Given the description of an element on the screen output the (x, y) to click on. 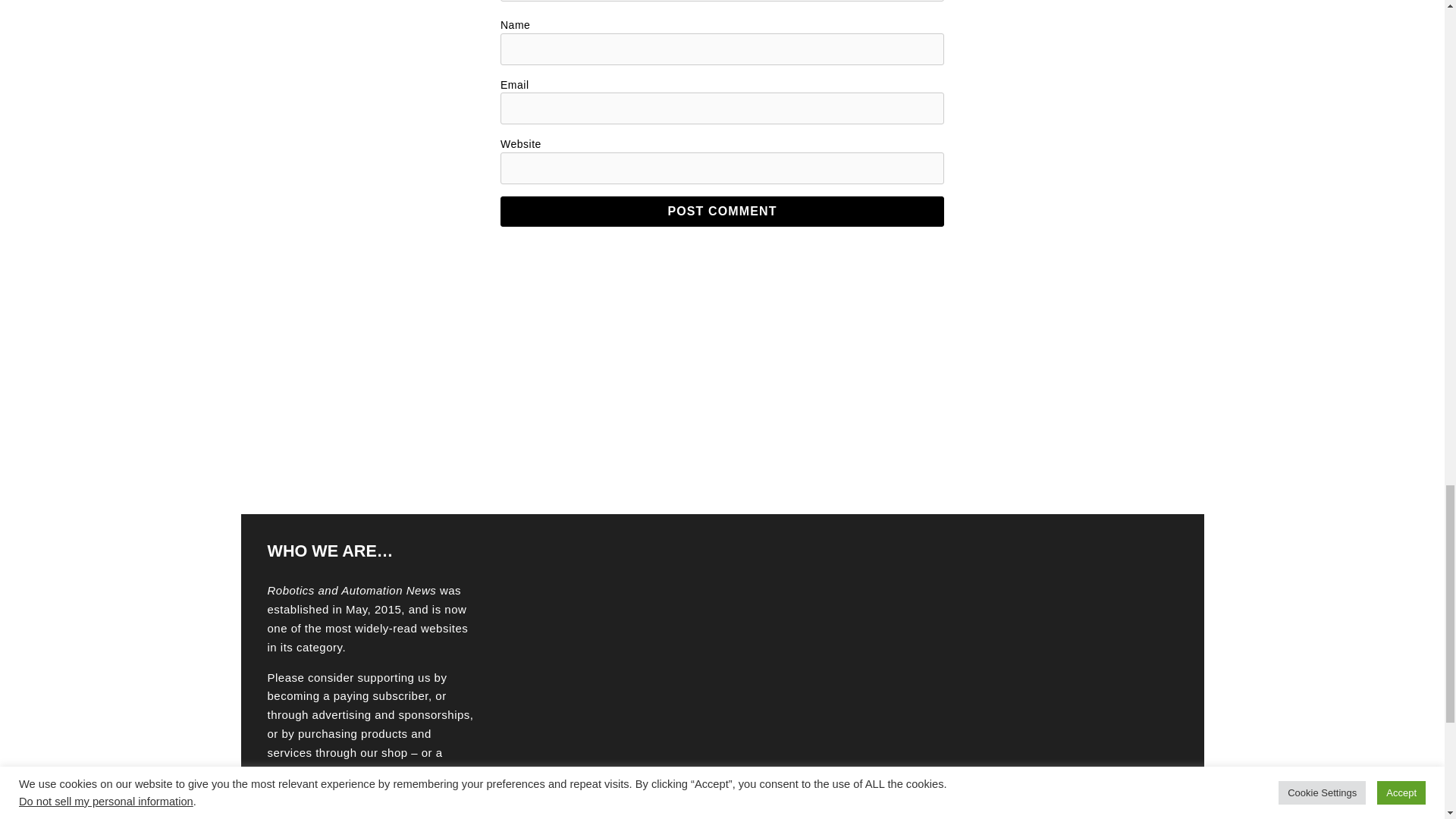
Post Comment (721, 211)
